Given the description of an element on the screen output the (x, y) to click on. 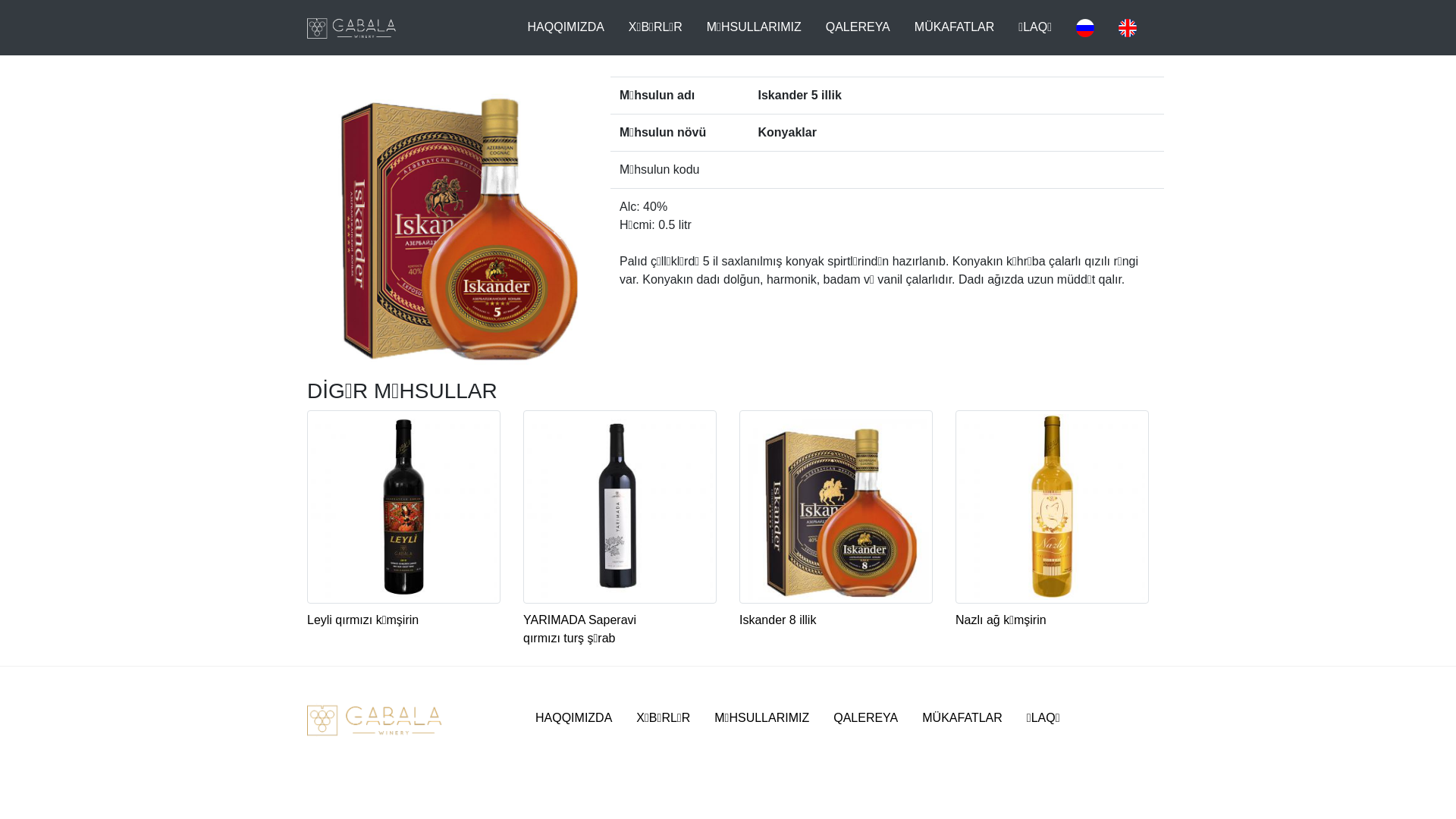
HAQQIMIZDA Element type: text (565, 27)
Iskander 8 illik Element type: text (835, 537)
HAQQIMIZDA Element type: text (573, 717)
QALEREYA Element type: text (865, 717)
QALEREYA Element type: text (857, 27)
